Given the description of an element on the screen output the (x, y) to click on. 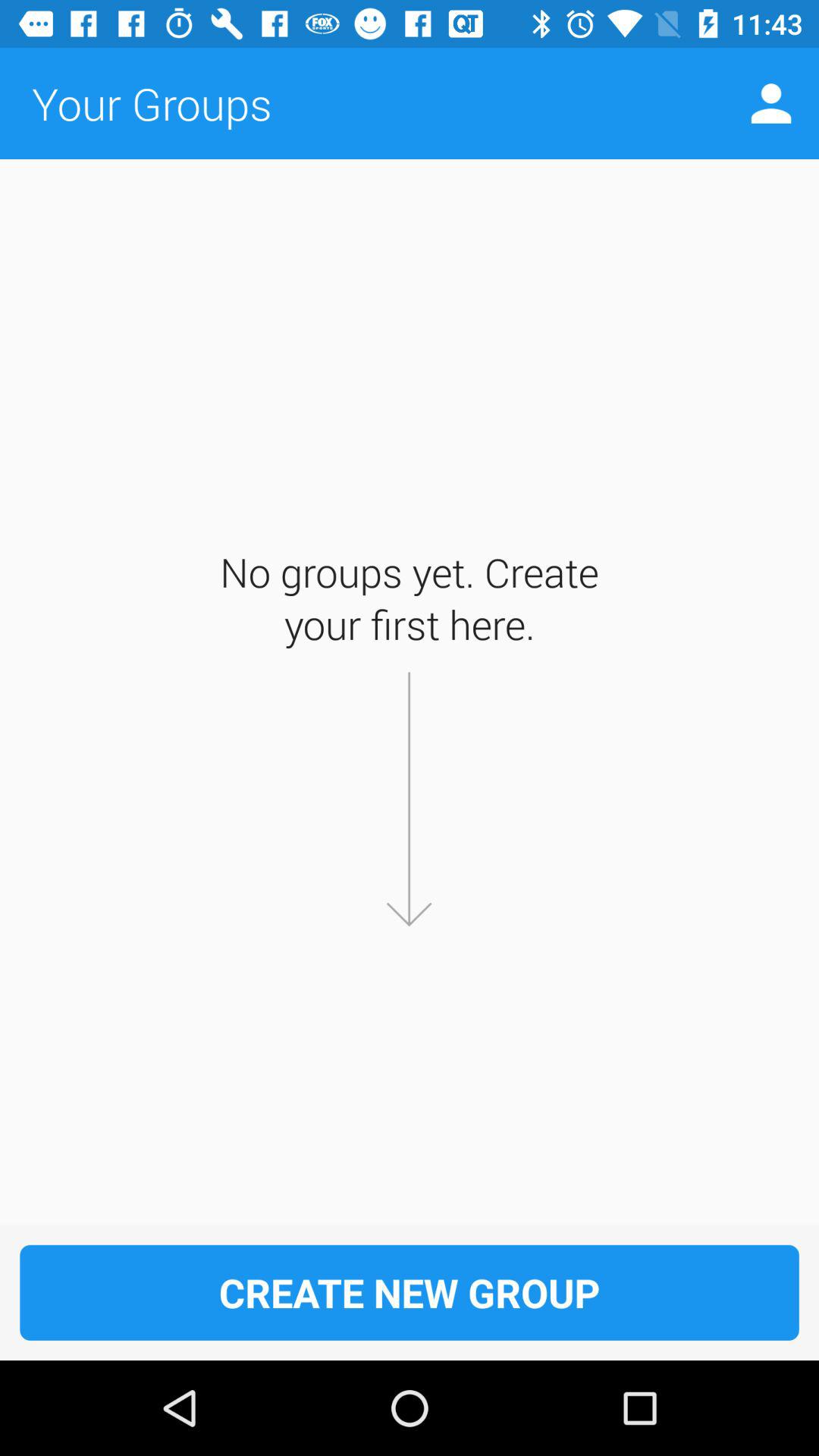
select create new group (409, 1292)
